Given the description of an element on the screen output the (x, y) to click on. 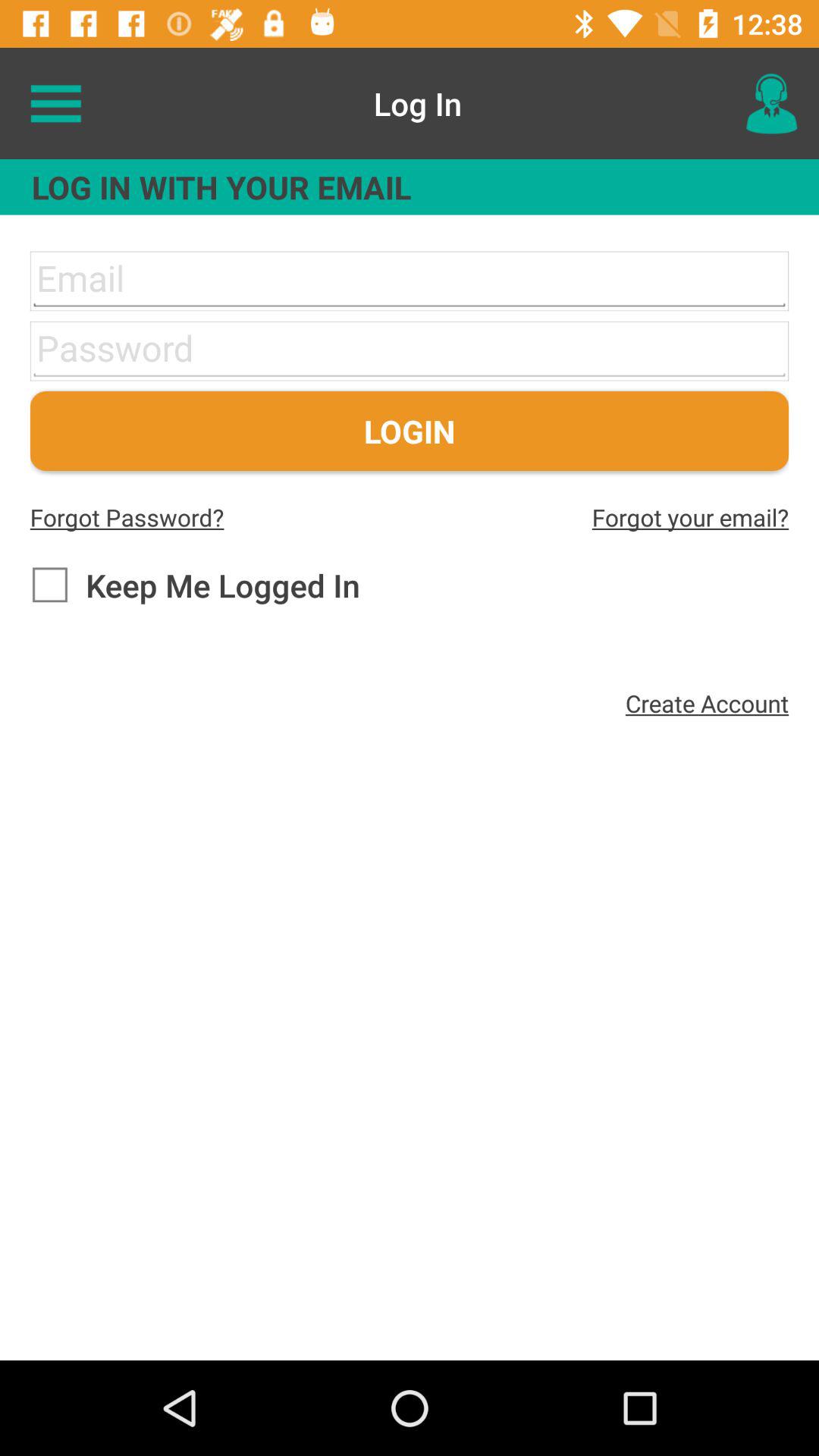
shows enter password area (409, 351)
